Given the description of an element on the screen output the (x, y) to click on. 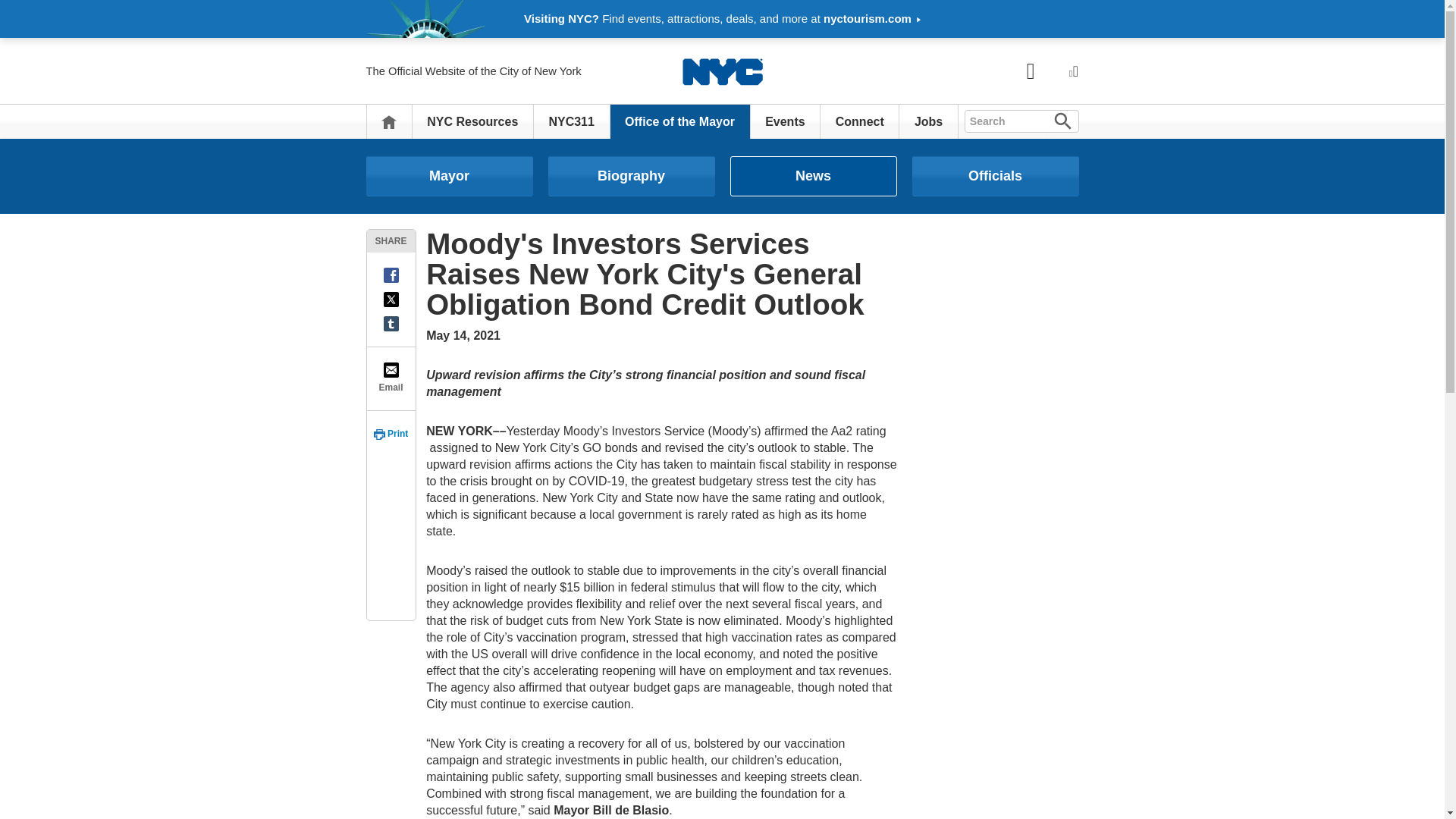
Connect (859, 121)
NYC311 (571, 121)
Biography (630, 176)
Office of the Mayor (679, 121)
NYC Resources (472, 121)
nyctourism.com (872, 18)
Mayor (448, 176)
Officials (994, 176)
News (812, 176)
Print (390, 433)
Events (785, 121)
